Given the description of an element on the screen output the (x, y) to click on. 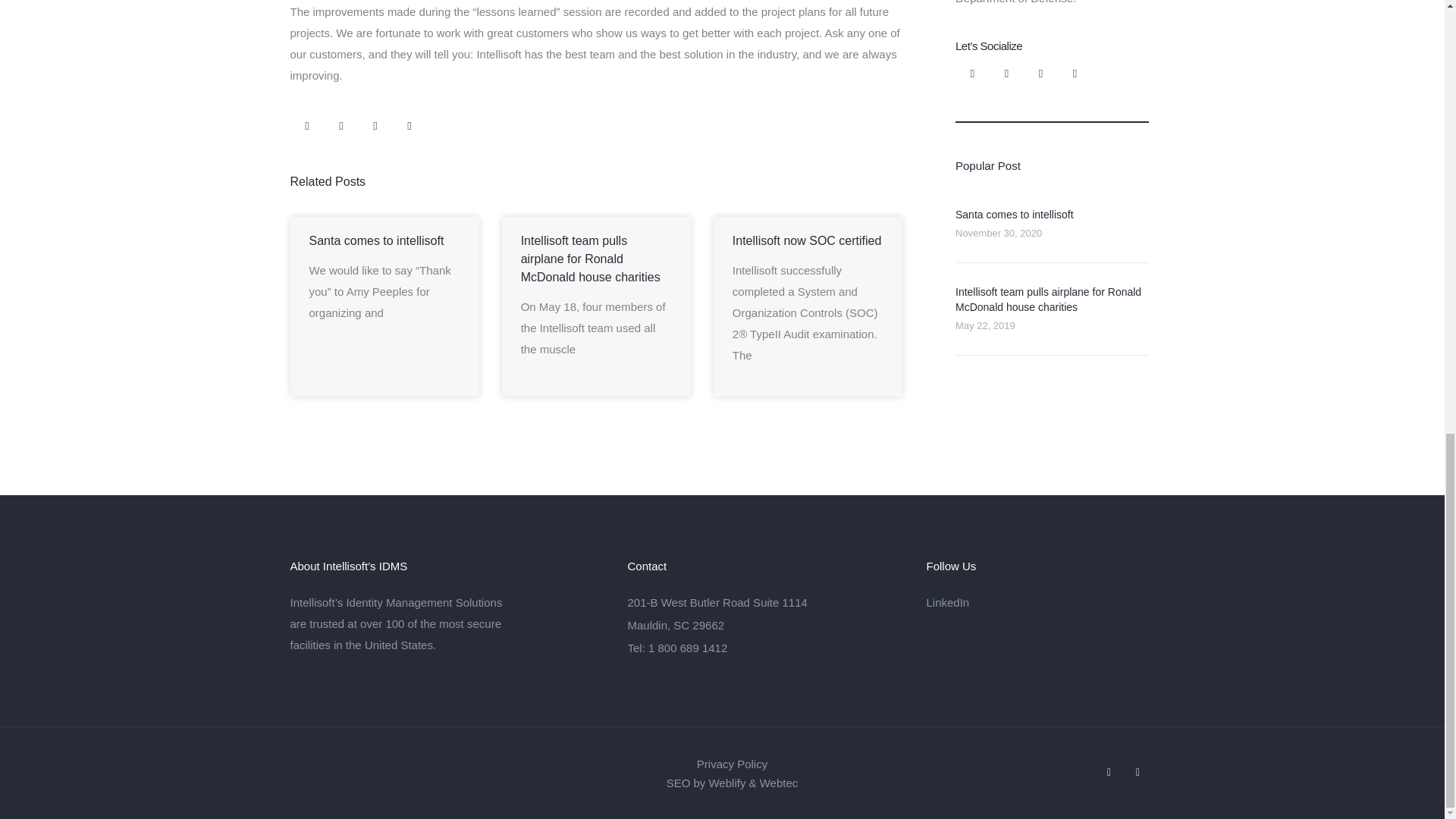
Webtec (778, 782)
Weblify (726, 782)
Tel: 1 800 689 1412 (764, 648)
Mauldin, SC 29662 (764, 625)
Santa comes to intellisoft (1014, 214)
Privacy Policy (732, 763)
201-B West Butler Road Suite 1114 (764, 602)
Santa comes to intellisoft (376, 240)
LinkedIn (1037, 602)
Intellisoft now SOC certified (807, 240)
